Given the description of an element on the screen output the (x, y) to click on. 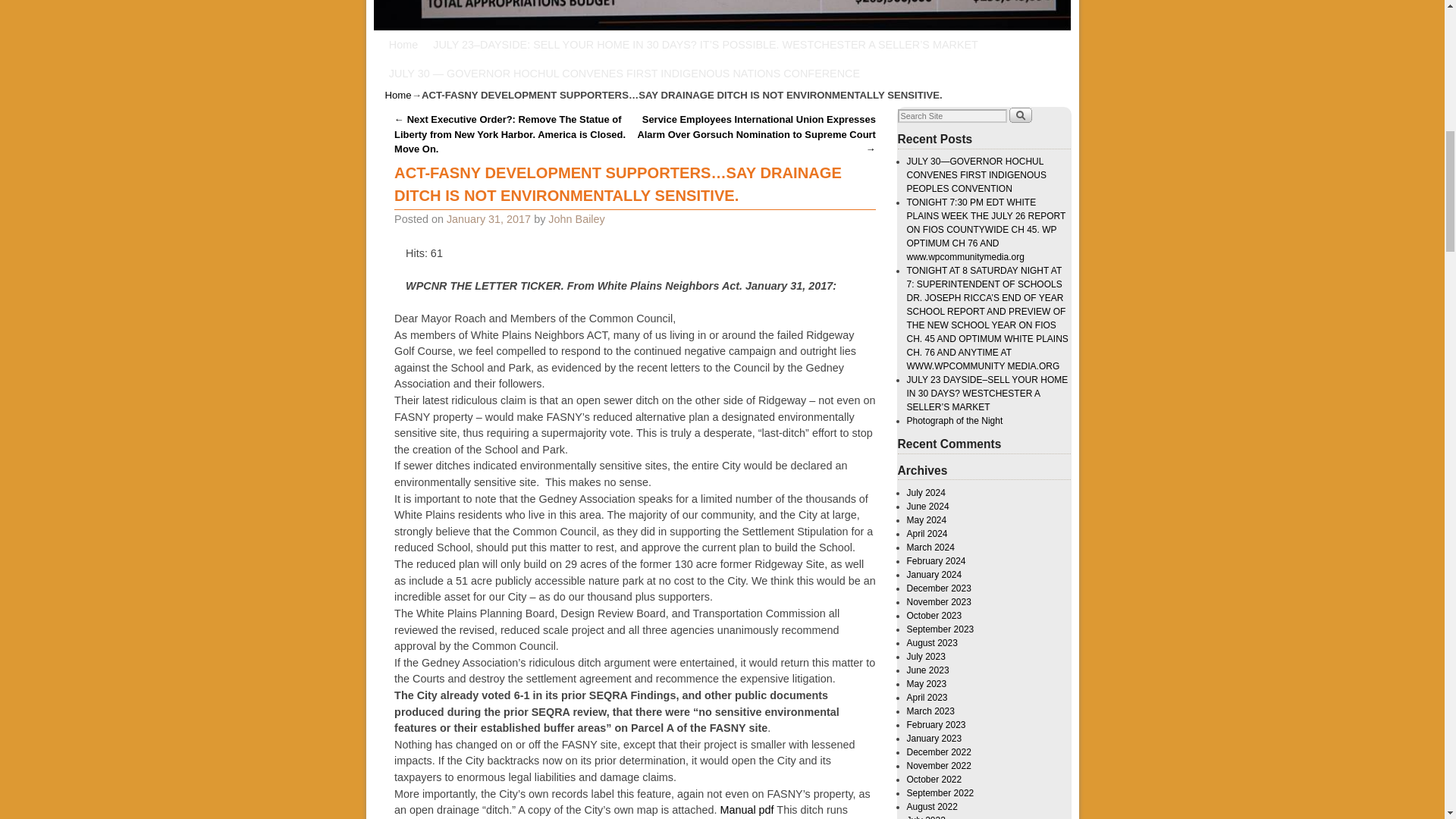
Manual pdf (746, 809)
January 31, 2017 (488, 218)
August 2023 (932, 643)
June 2024 (928, 506)
Photograph of the Night (955, 420)
May 2023 (927, 683)
Home (403, 44)
June 2023 (928, 670)
May 2024 (927, 520)
July 2023 (925, 656)
Skip to secondary content (460, 44)
March 2024 (931, 547)
October 2023 (934, 615)
July 2024 (925, 492)
